Given the description of an element on the screen output the (x, y) to click on. 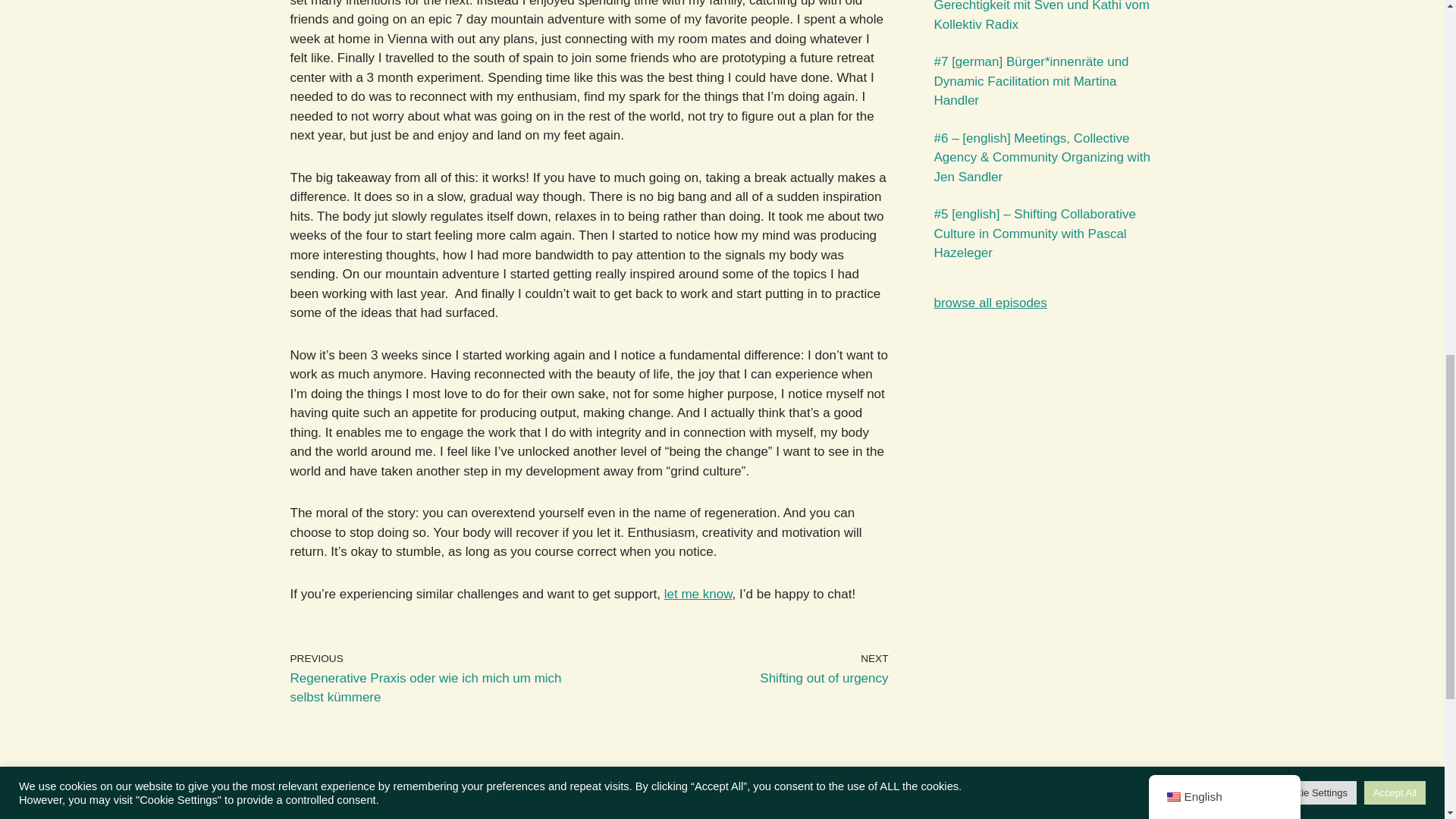
Facebook (638, 798)
LinkedIn (741, 798)
RSS (742, 668)
Twitter (604, 798)
let me know (673, 798)
YouTube (697, 594)
